Given the description of an element on the screen output the (x, y) to click on. 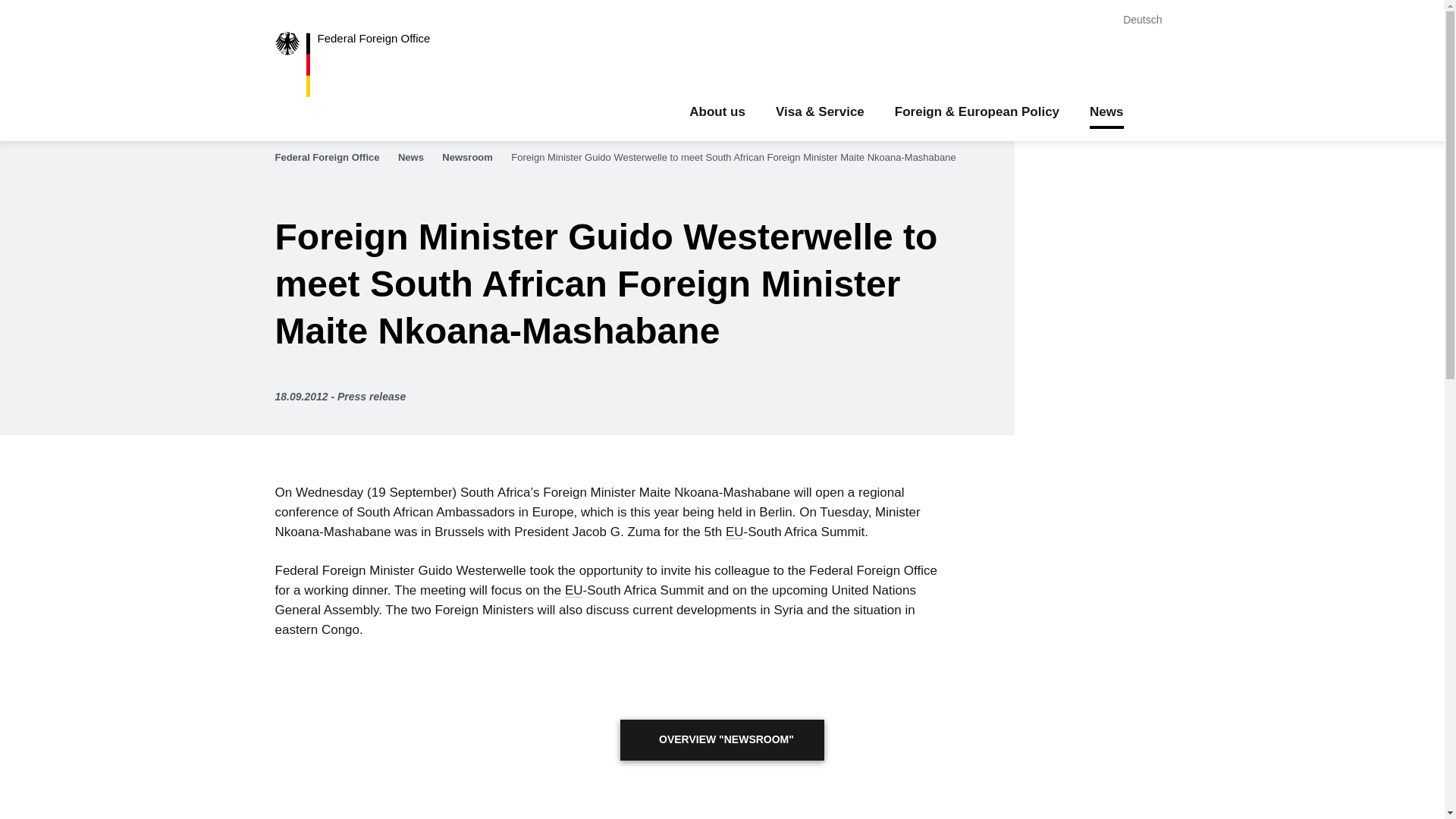
Overview Newsroom (722, 739)
Newsroom (474, 157)
Deutsch (1145, 19)
European Union (734, 531)
European Union (573, 590)
News (418, 157)
Deutsch (1145, 19)
Federal Foreign Office (363, 64)
Federal Foreign Office (334, 157)
Federal Foreign Office (363, 64)
